Given the description of an element on the screen output the (x, y) to click on. 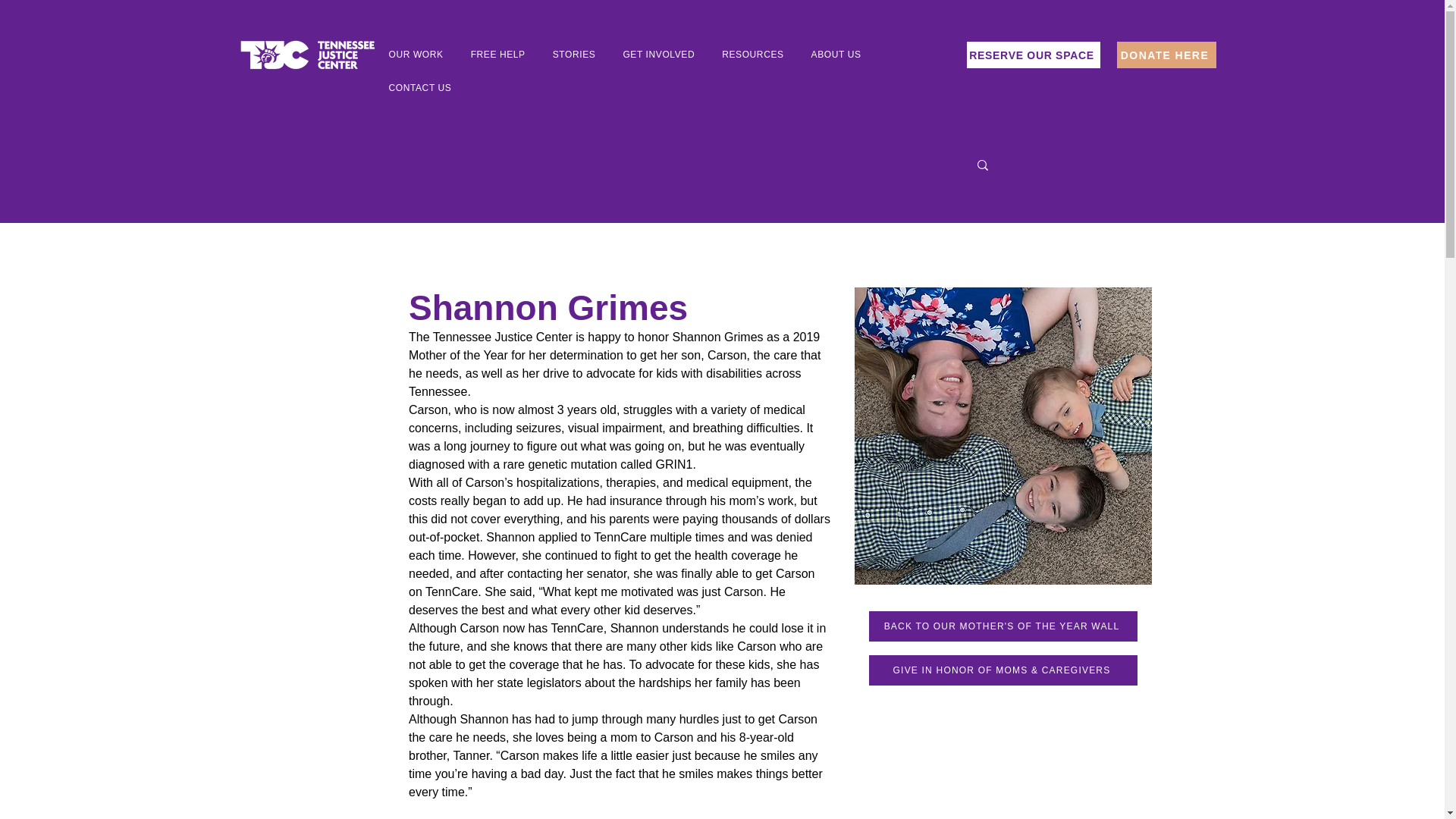
GET INVOLVED (658, 53)
CONTACT US (420, 87)
OUR WORK (415, 53)
ABOUT US (836, 53)
FREE HELP (498, 53)
STORIES (574, 53)
Shannon-Grimes-.jpeg (1002, 435)
RESOURCES (752, 53)
